Given the description of an element on the screen output the (x, y) to click on. 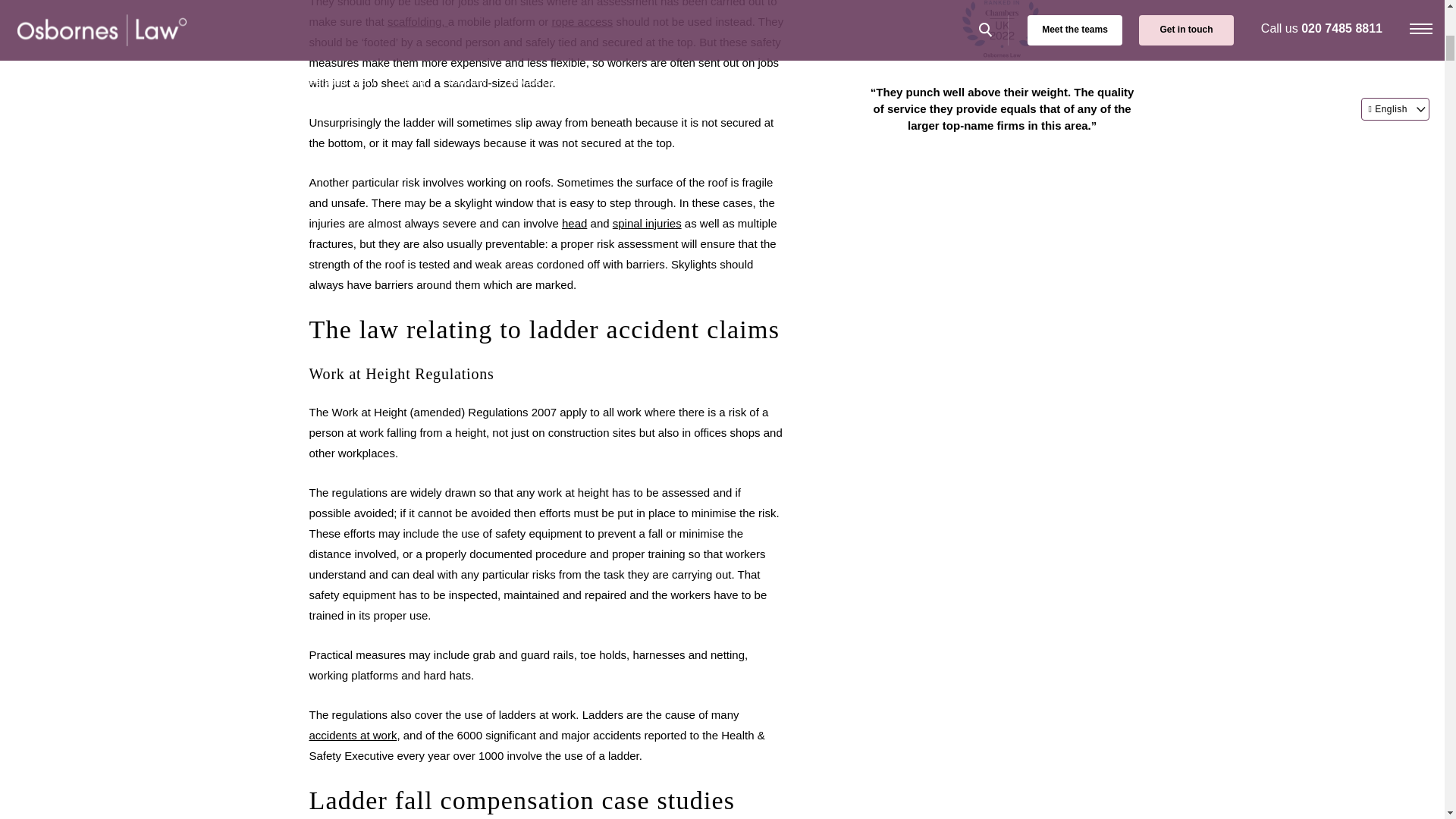
rope access (581, 21)
Chambers 2022 firm (1002, 32)
scaffolding, (417, 21)
